Given the description of an element on the screen output the (x, y) to click on. 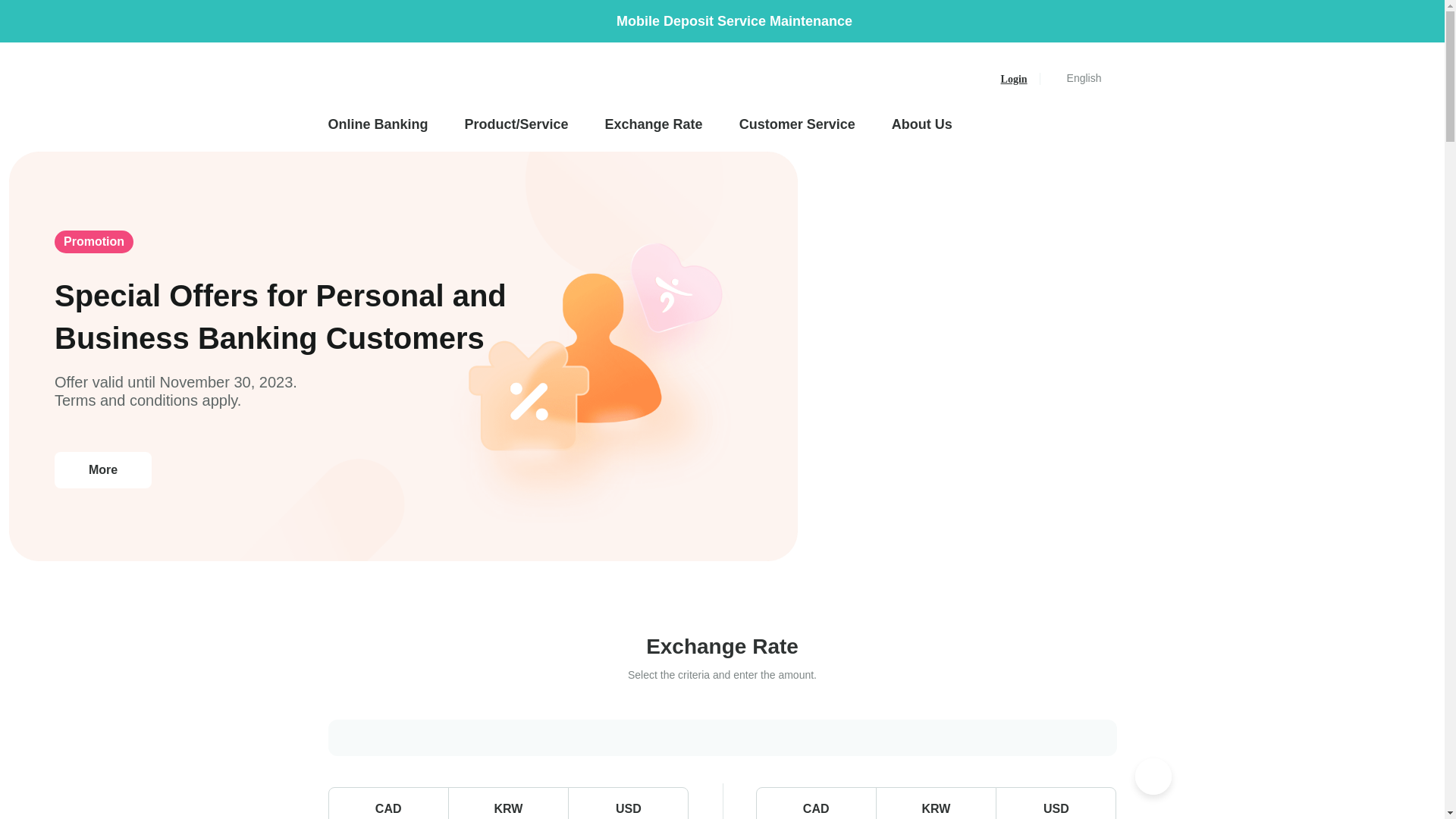
Exchange Rate Element type: text (653, 124)
Hana Bank Canada Element type: text (385, 78)
English Element type: text (1084, 78)
More Element type: text (102, 469)
About Us Element type: text (921, 124)
Online Banking Element type: text (386, 124)
Product/Service Element type: text (516, 124)
Go to TOP Element type: hover (1152, 776)
Login Element type: text (1014, 79)
Mobile Deposit Service Maintenance Element type: text (722, 21)
Customer Service Element type: text (797, 124)
